Given the description of an element on the screen output the (x, y) to click on. 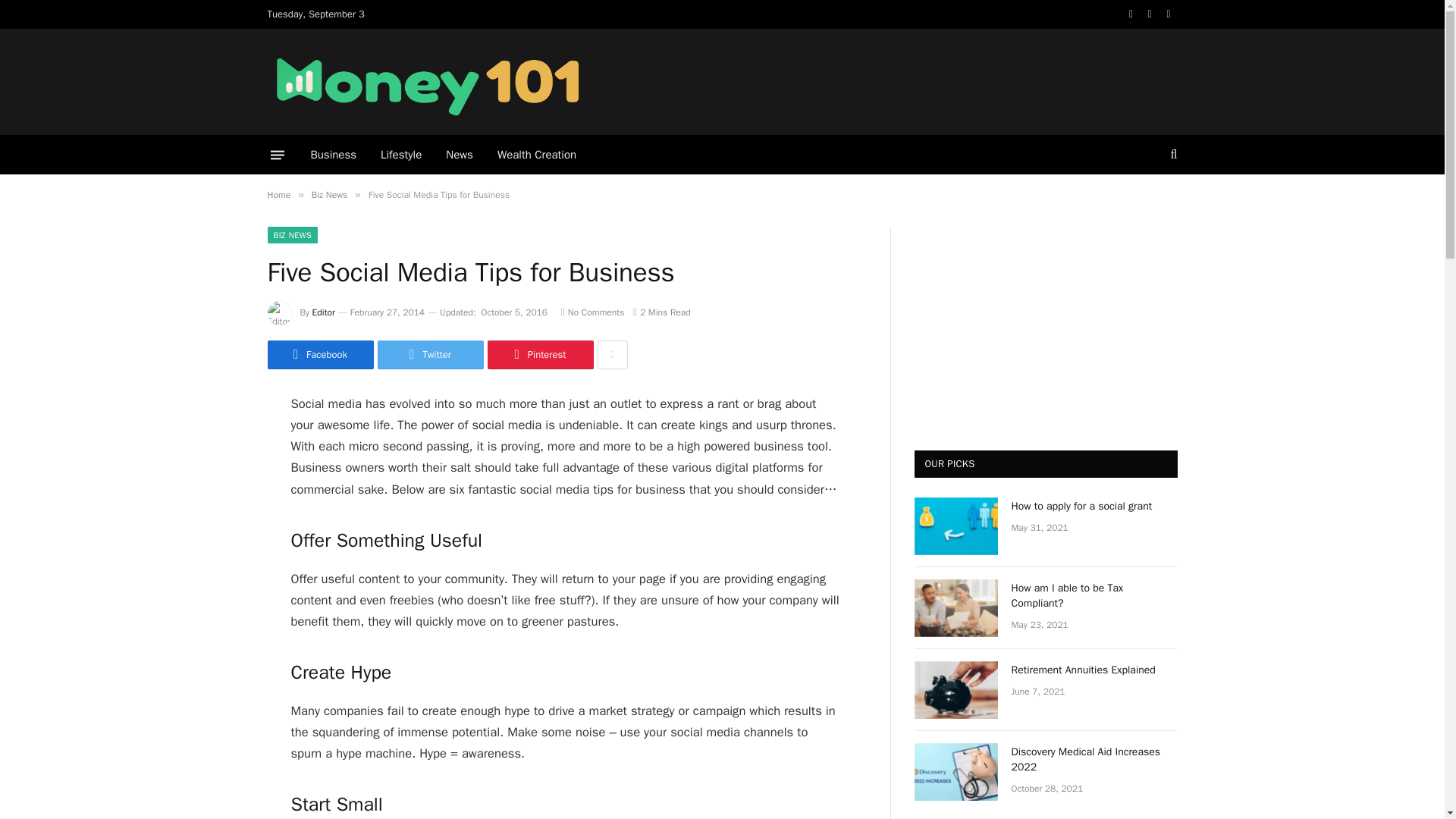
News (458, 154)
Share on Facebook (319, 354)
Lifestyle (400, 154)
Biz News (329, 194)
Business (333, 154)
Home (277, 194)
BIZ NEWS (291, 234)
Pinterest (539, 354)
Twitter (430, 354)
Posts by Editor (323, 312)
